Given the description of an element on the screen output the (x, y) to click on. 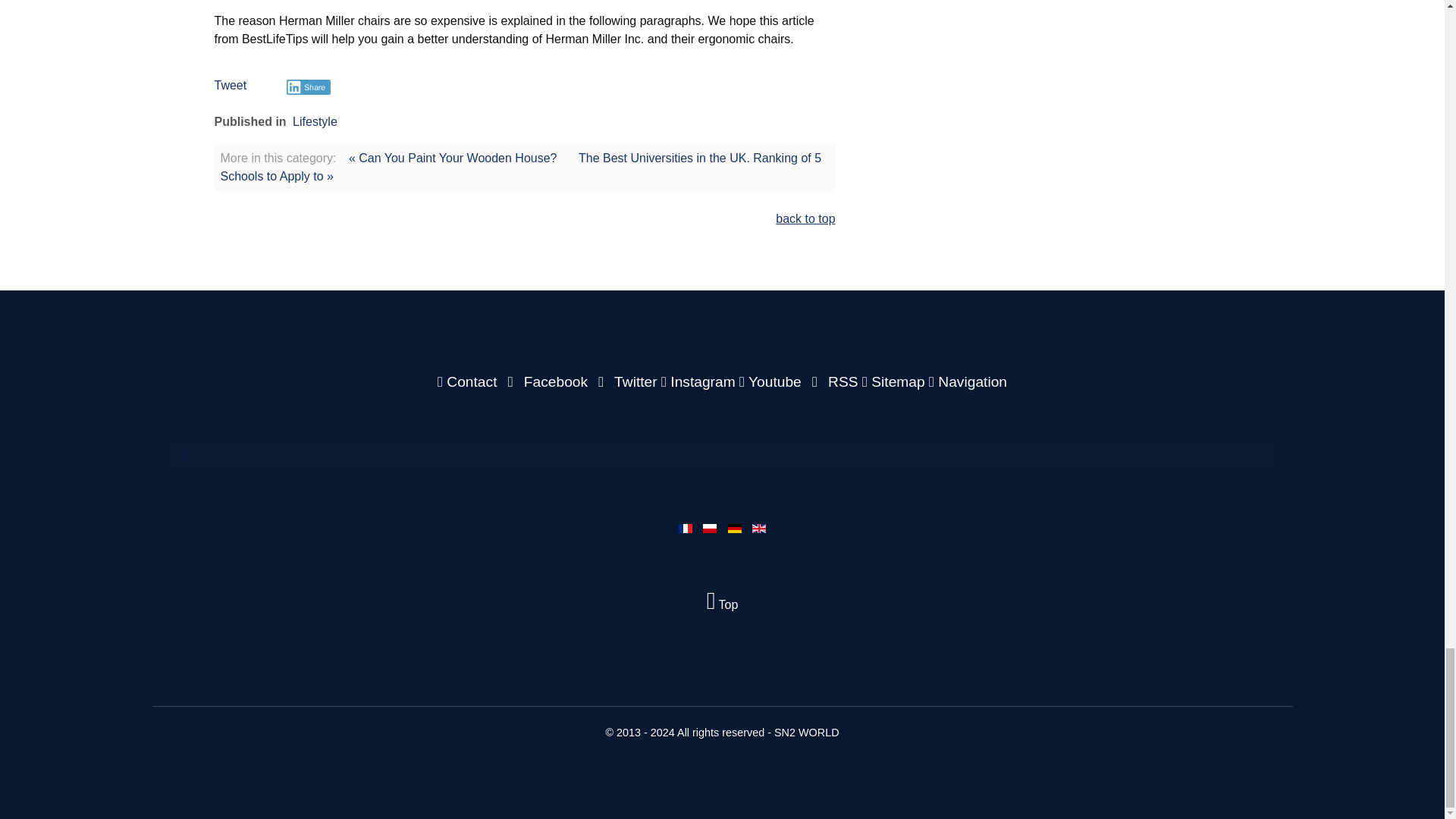
Instagram (700, 381)
Polski (709, 528)
Contact (469, 381)
Youtube (772, 381)
Contact (469, 381)
back to top (805, 218)
RSS (833, 381)
Share (308, 87)
Lifestyle (314, 121)
Sitemap (894, 381)
Tweet (230, 84)
Navigation (967, 381)
Facebook (546, 381)
Twitter (626, 381)
